Given the description of an element on the screen output the (x, y) to click on. 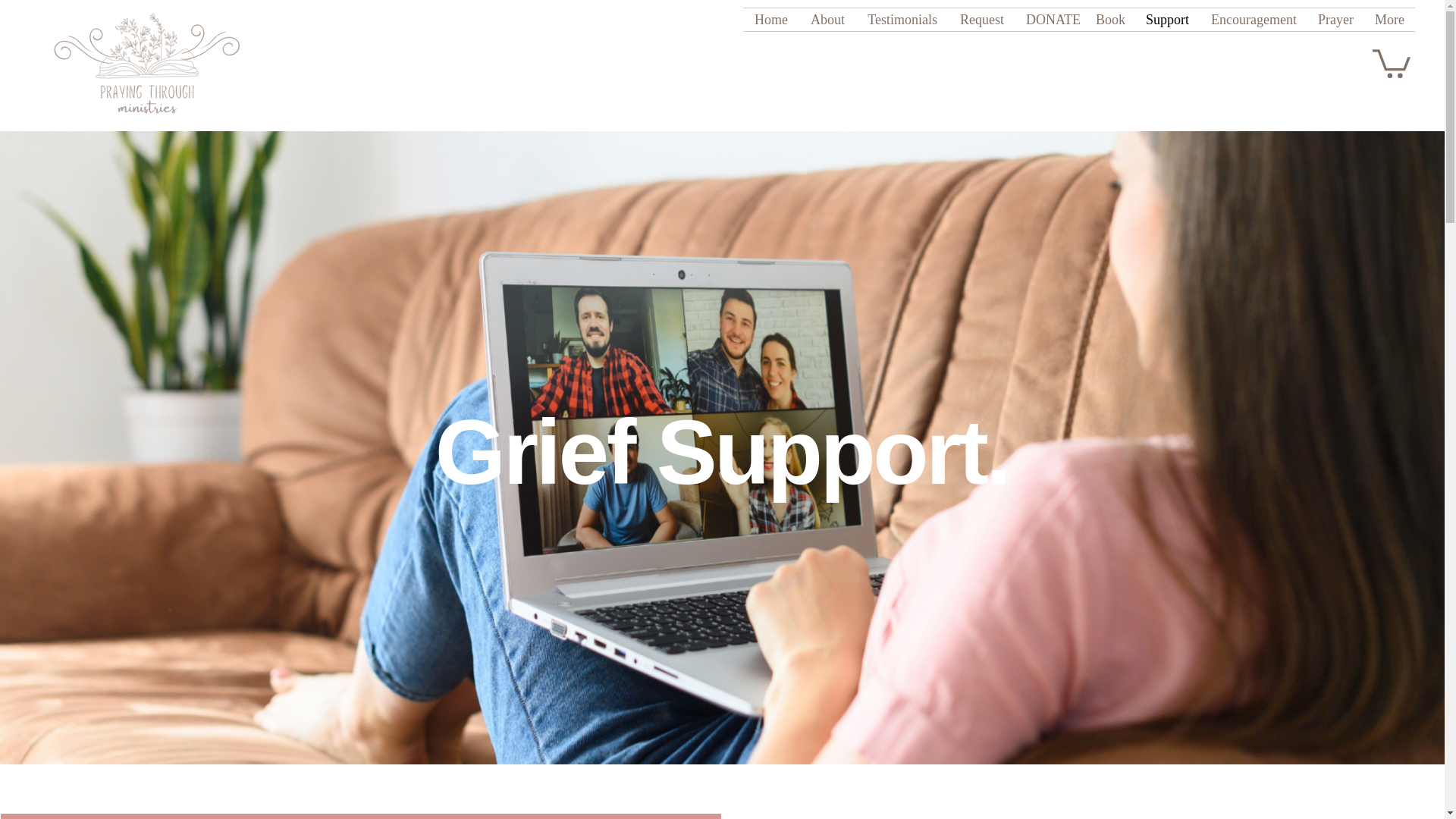
About (827, 19)
Encouragement (1252, 19)
Support (1166, 19)
Testimonials (902, 19)
DONATE (1049, 19)
Home (770, 19)
Request (981, 19)
Prayer (1334, 19)
Book (1109, 19)
